Given the description of an element on the screen output the (x, y) to click on. 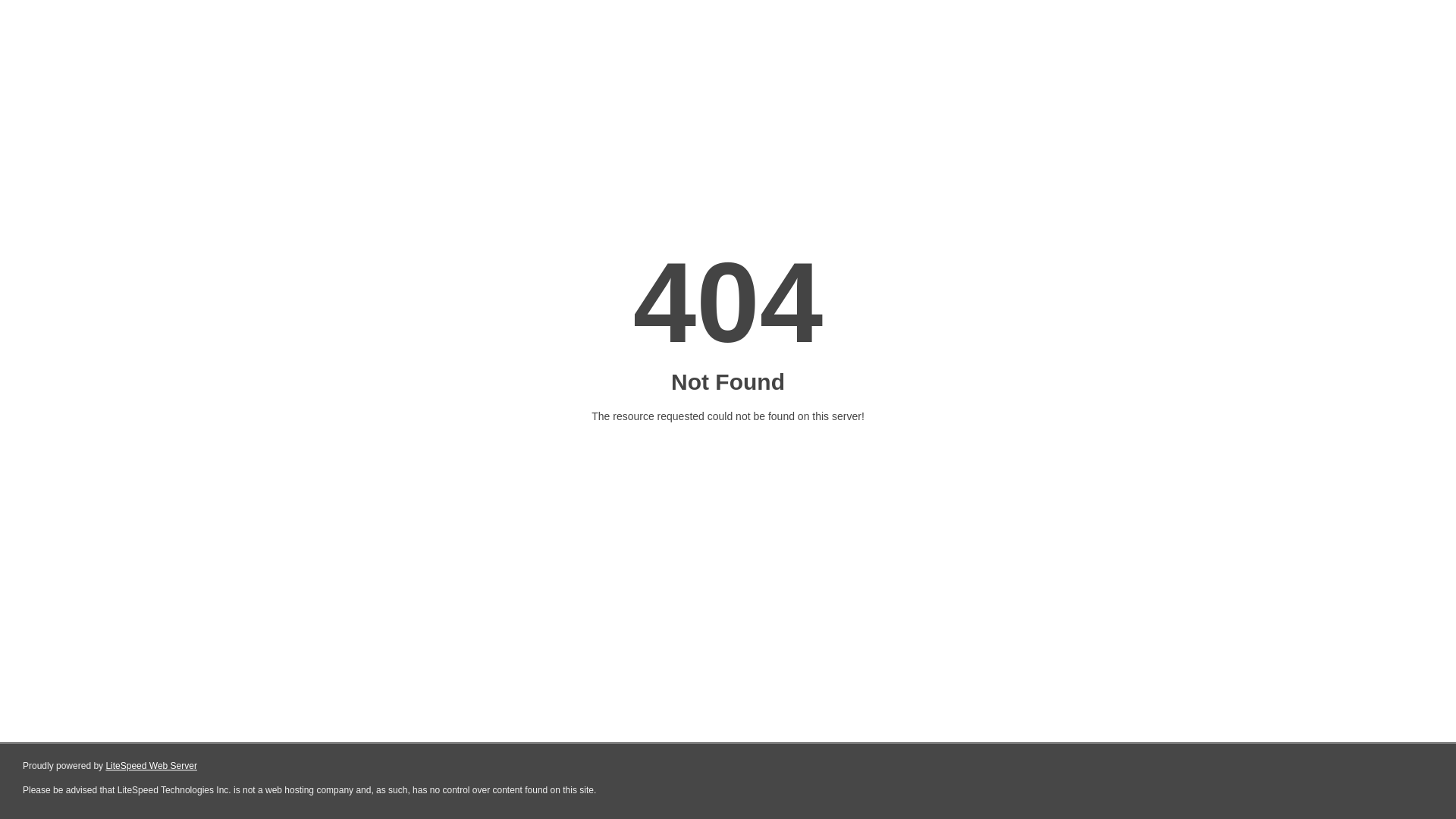
LiteSpeed Web Server Element type: text (151, 765)
